Given the description of an element on the screen output the (x, y) to click on. 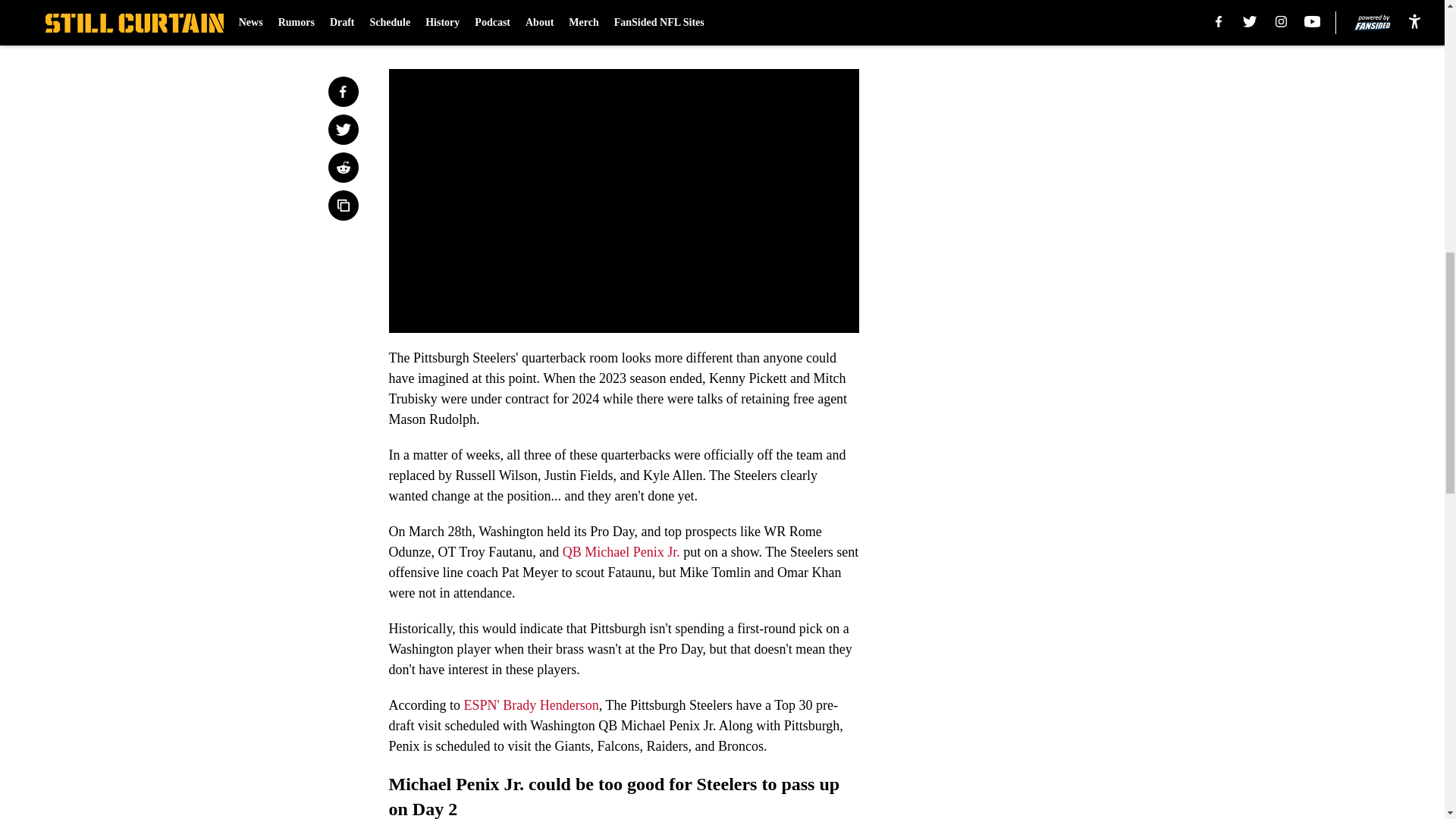
ESPN' Brady Henderson (529, 704)
QB Michael Penix Jr. (620, 551)
